Given the description of an element on the screen output the (x, y) to click on. 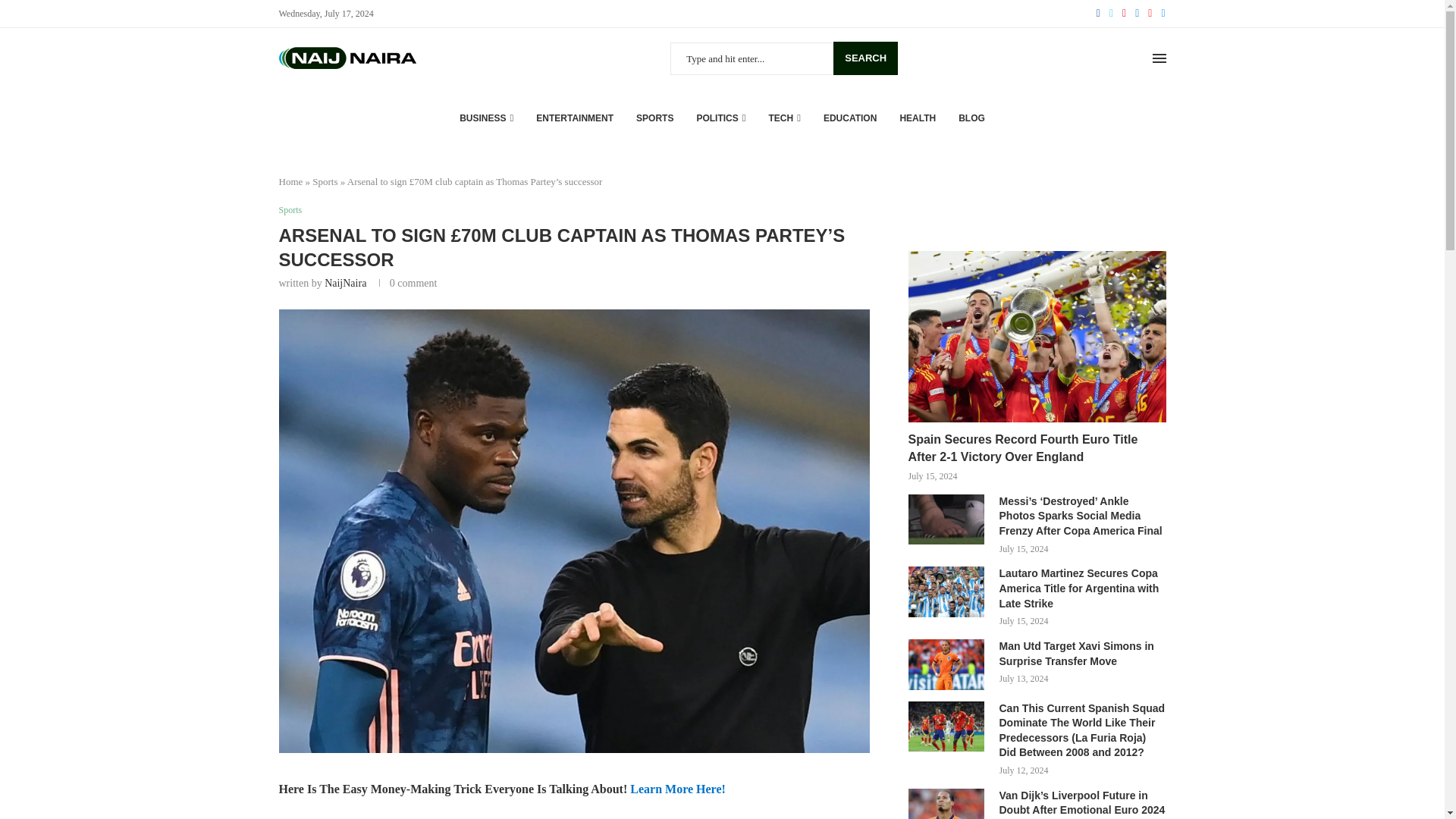
BUSINESS (486, 118)
SEARCH (865, 57)
ENTERTAINMENT (573, 118)
POLITICS (720, 118)
EDUCATION (850, 118)
